Given the description of an element on the screen output the (x, y) to click on. 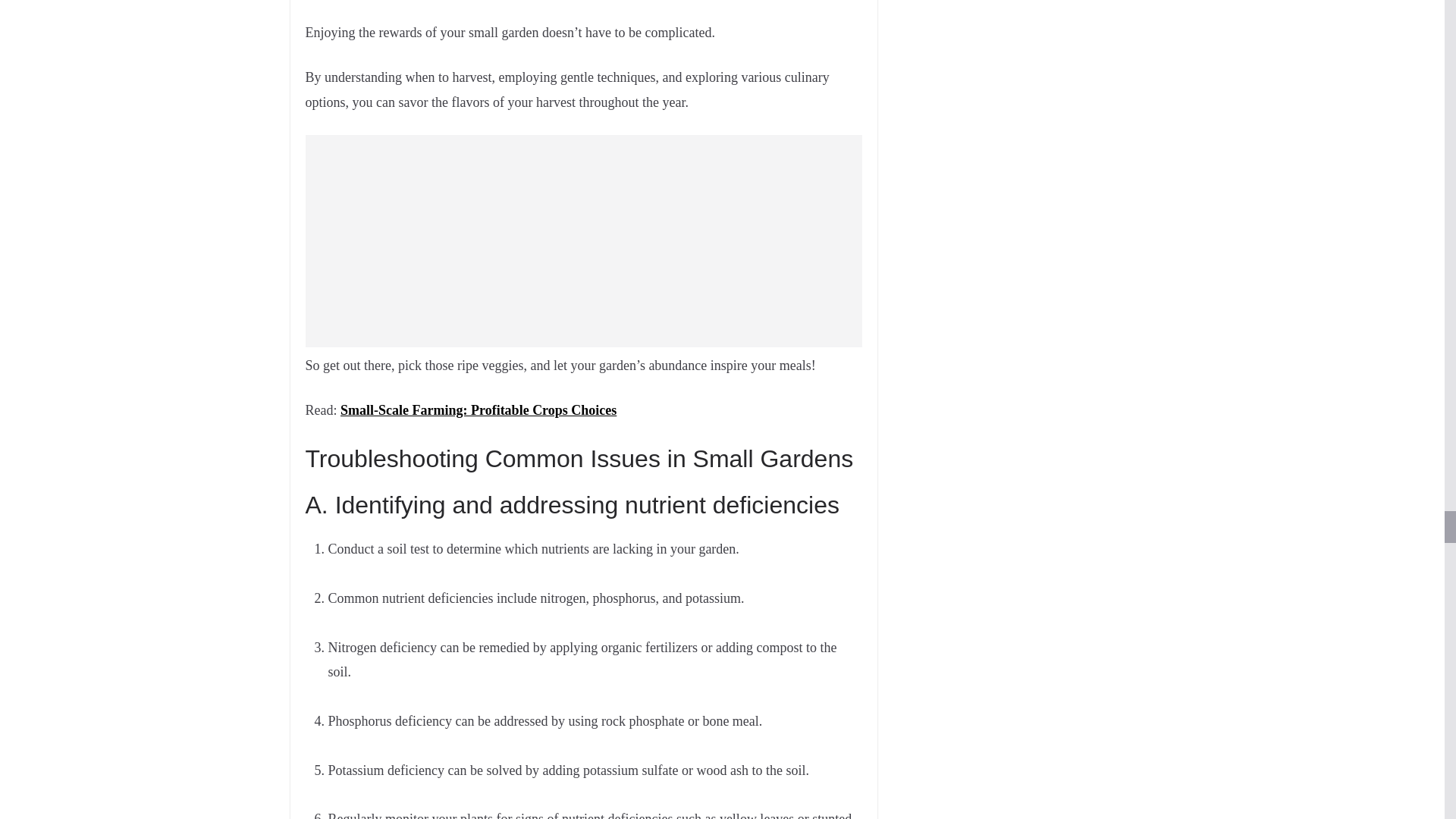
Small-Scale Farming: Profitable Crops Choices (477, 409)
